Given the description of an element on the screen output the (x, y) to click on. 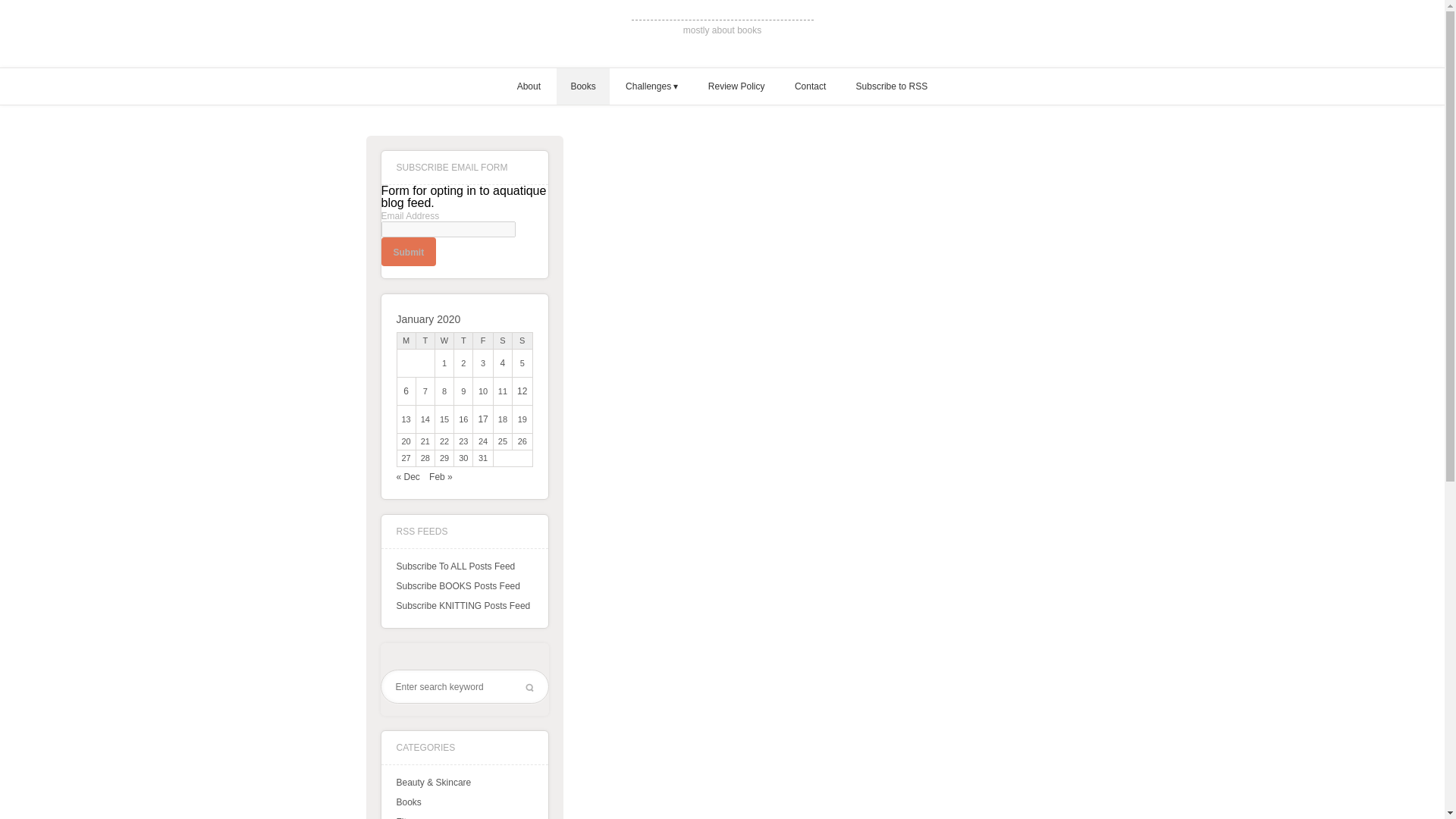
Review Policy (736, 85)
Contact (810, 85)
Books (582, 85)
Tuesday (423, 340)
Saturday (502, 340)
Subscribe To ALL Posts Feed (455, 566)
17 (482, 419)
Submit (407, 251)
Subscribe to RSS (892, 85)
Thursday (463, 340)
